Given the description of an element on the screen output the (x, y) to click on. 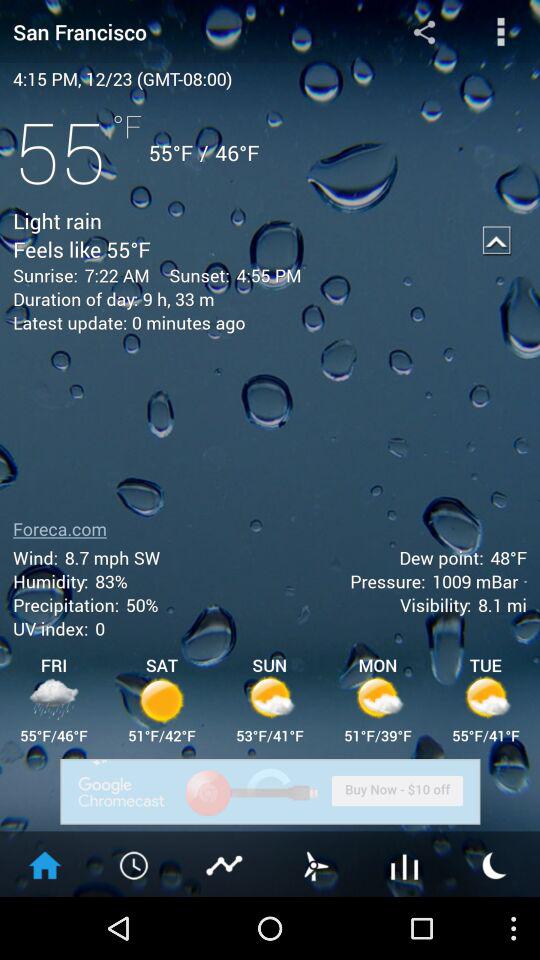
open graph (405, 864)
